Given the description of an element on the screen output the (x, y) to click on. 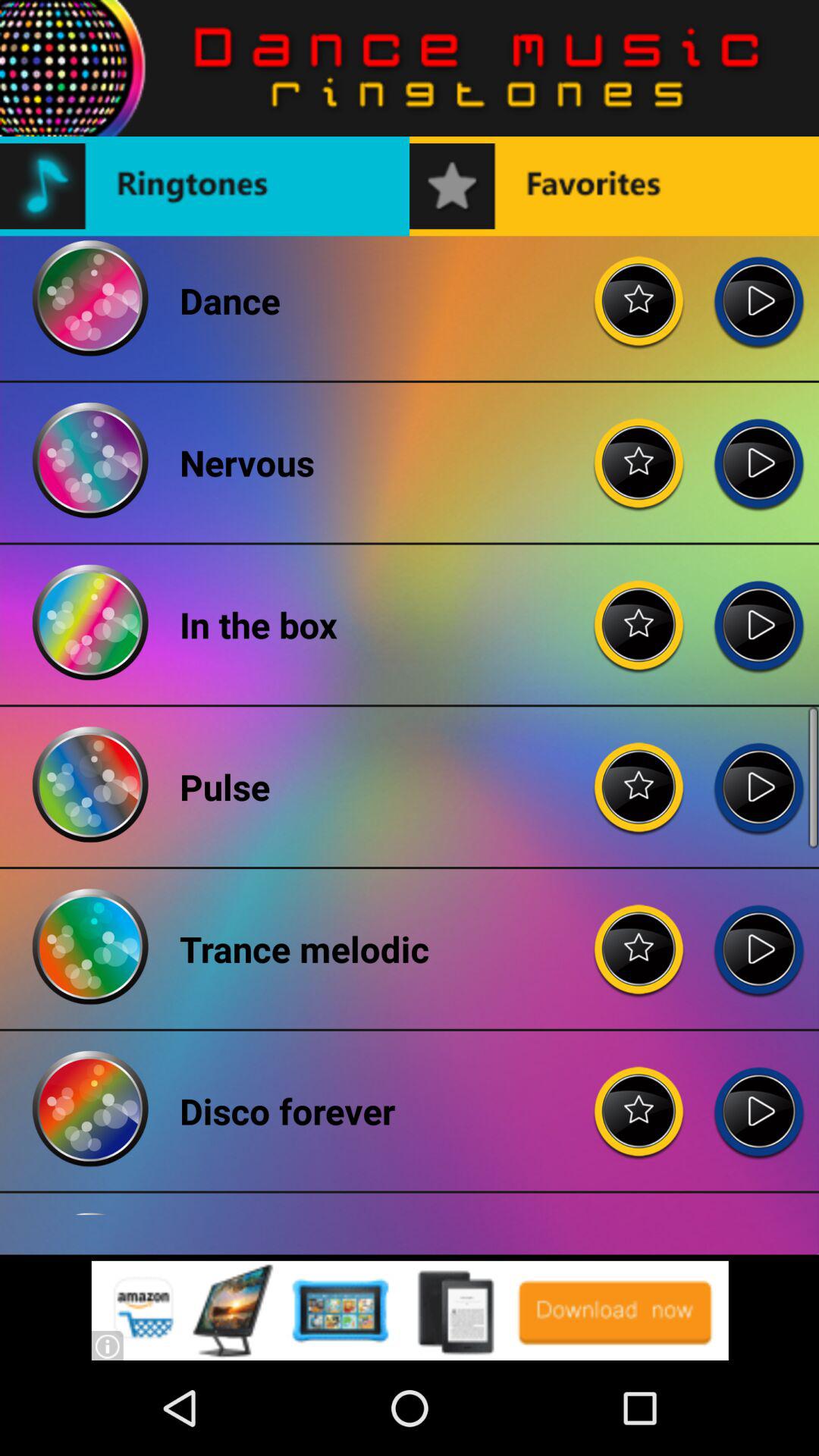
advertisement to download amazon app (409, 1310)
